Given the description of an element on the screen output the (x, y) to click on. 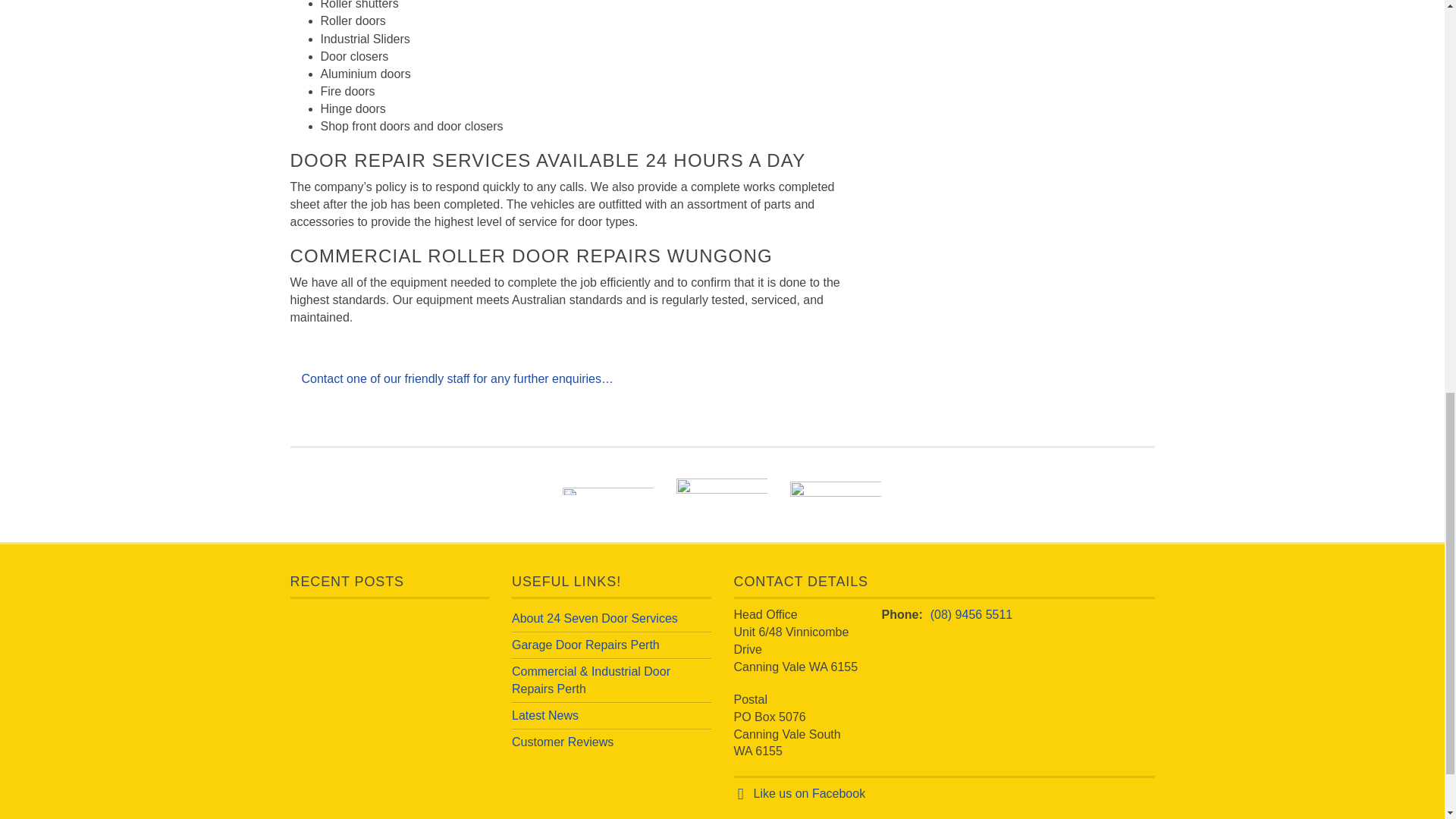
Latest News (545, 715)
Customer Reviews (562, 741)
About 24 Seven Door Services (595, 617)
Like us on Facebook (810, 793)
Garage Door Repairs Perth (585, 644)
